Given the description of an element on the screen output the (x, y) to click on. 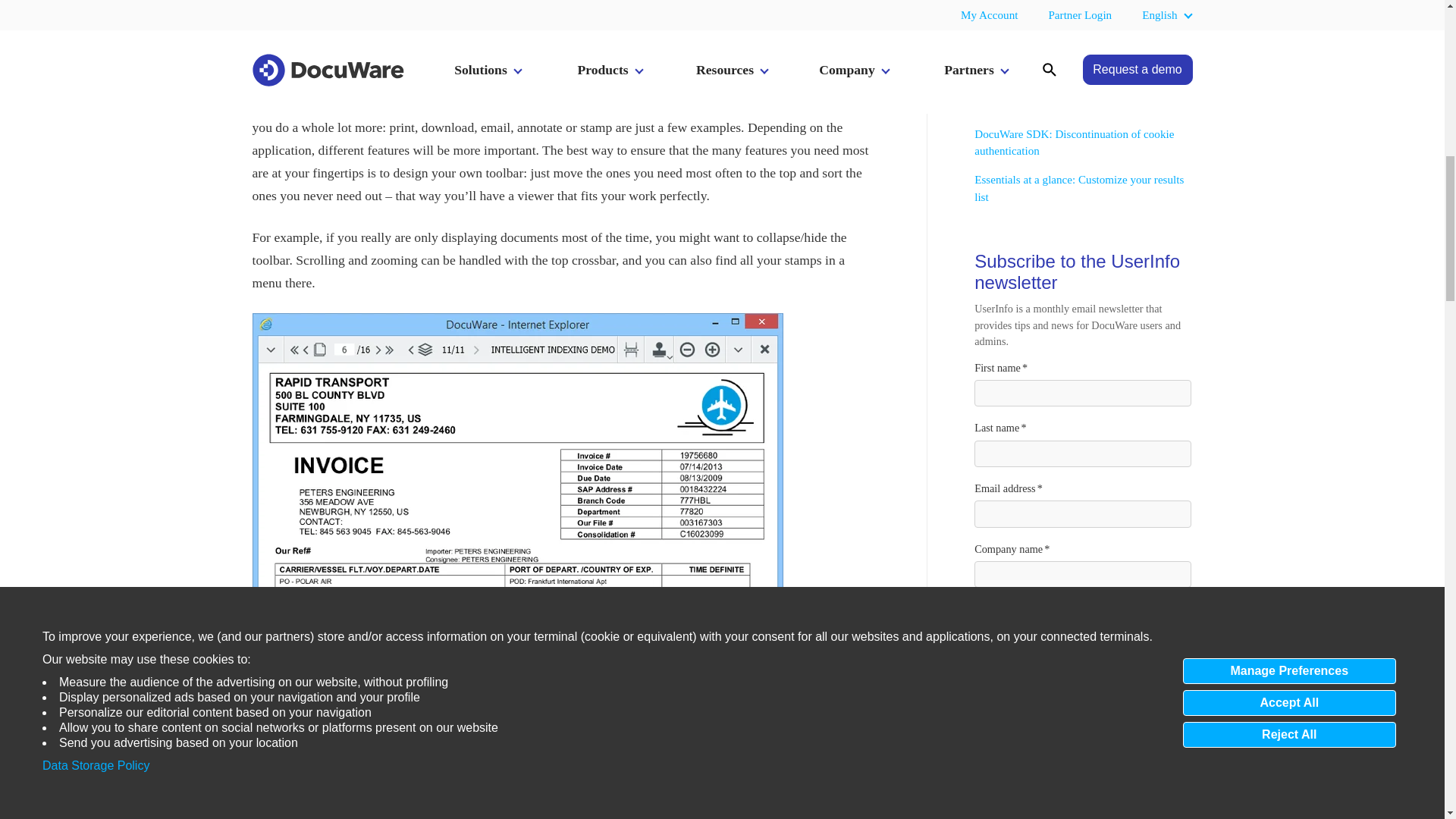
true (1084, 619)
Submit (1011, 694)
